Given the description of an element on the screen output the (x, y) to click on. 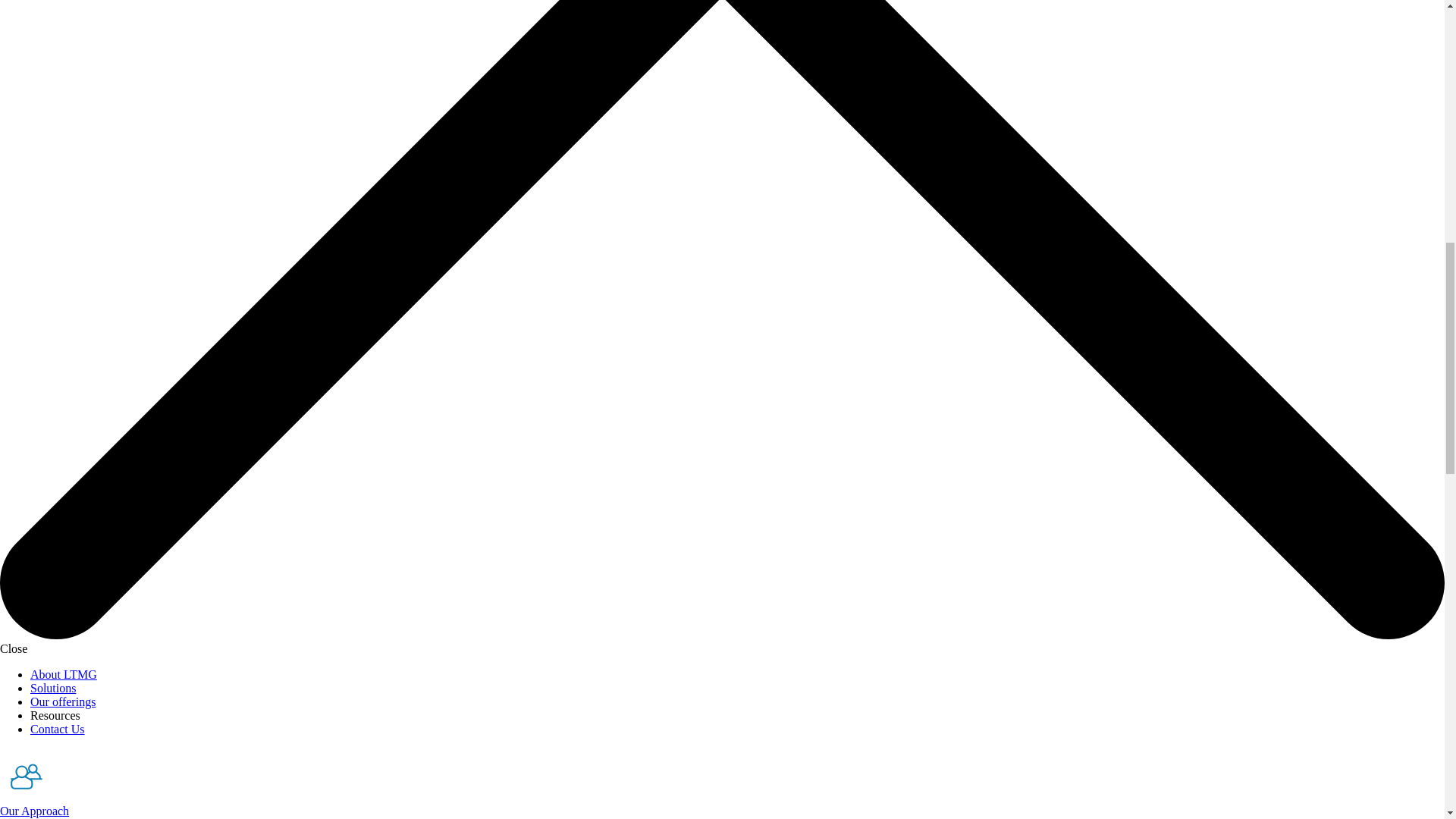
About LTMG (63, 674)
Our Approach (34, 810)
Contact Us (57, 728)
Solutions (52, 687)
Our offerings (63, 701)
Resources (55, 715)
